Given the description of an element on the screen output the (x, y) to click on. 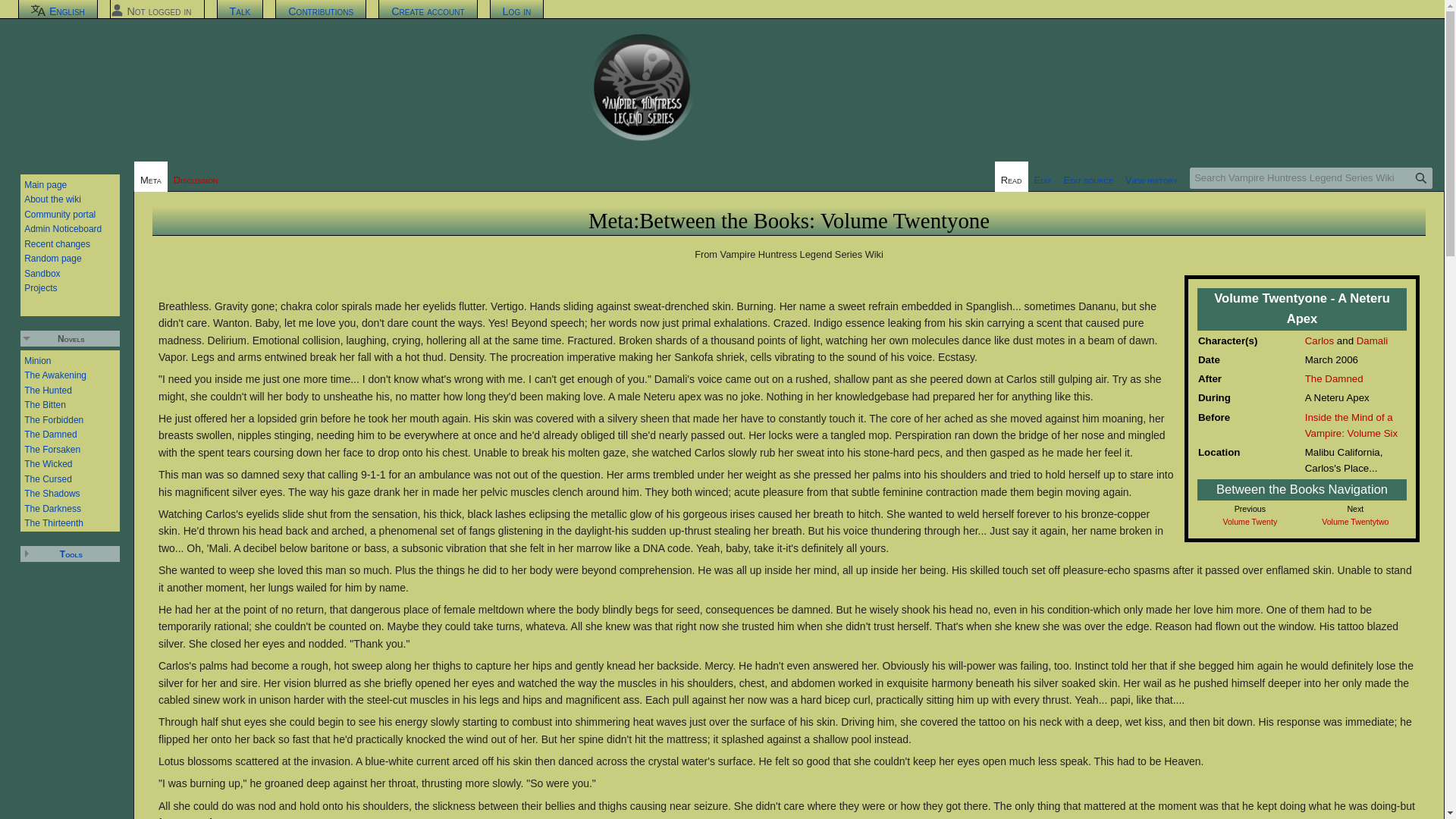
Volume Twentytwo (1355, 521)
Go (1420, 178)
Search (1420, 178)
Inside the Mind of a Vampire: Volume Six (1350, 424)
Volume Twenty (1249, 521)
Search (1420, 178)
Damali (1371, 340)
Go (1420, 178)
The Damned (1333, 378)
Carlos (1318, 340)
